Given the description of an element on the screen output the (x, y) to click on. 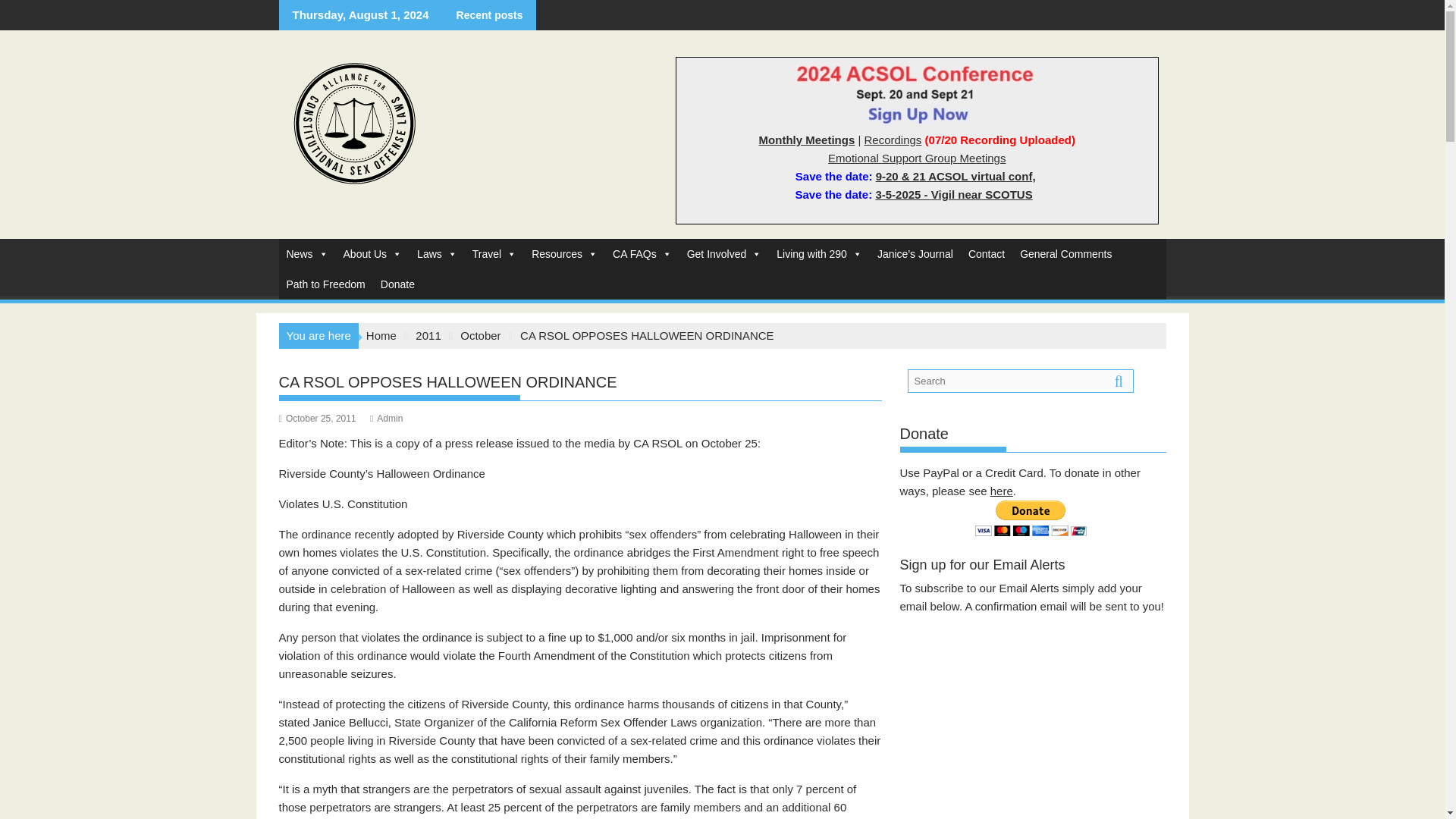
News (307, 254)
Travel (494, 254)
Laws (436, 254)
Recordings (892, 139)
About Us (373, 254)
3-5-2025 - Vigil near SCOTUS (953, 194)
Monthly Meetings (807, 139)
Emotional Support Group Meetings (917, 157)
